Given the description of an element on the screen output the (x, y) to click on. 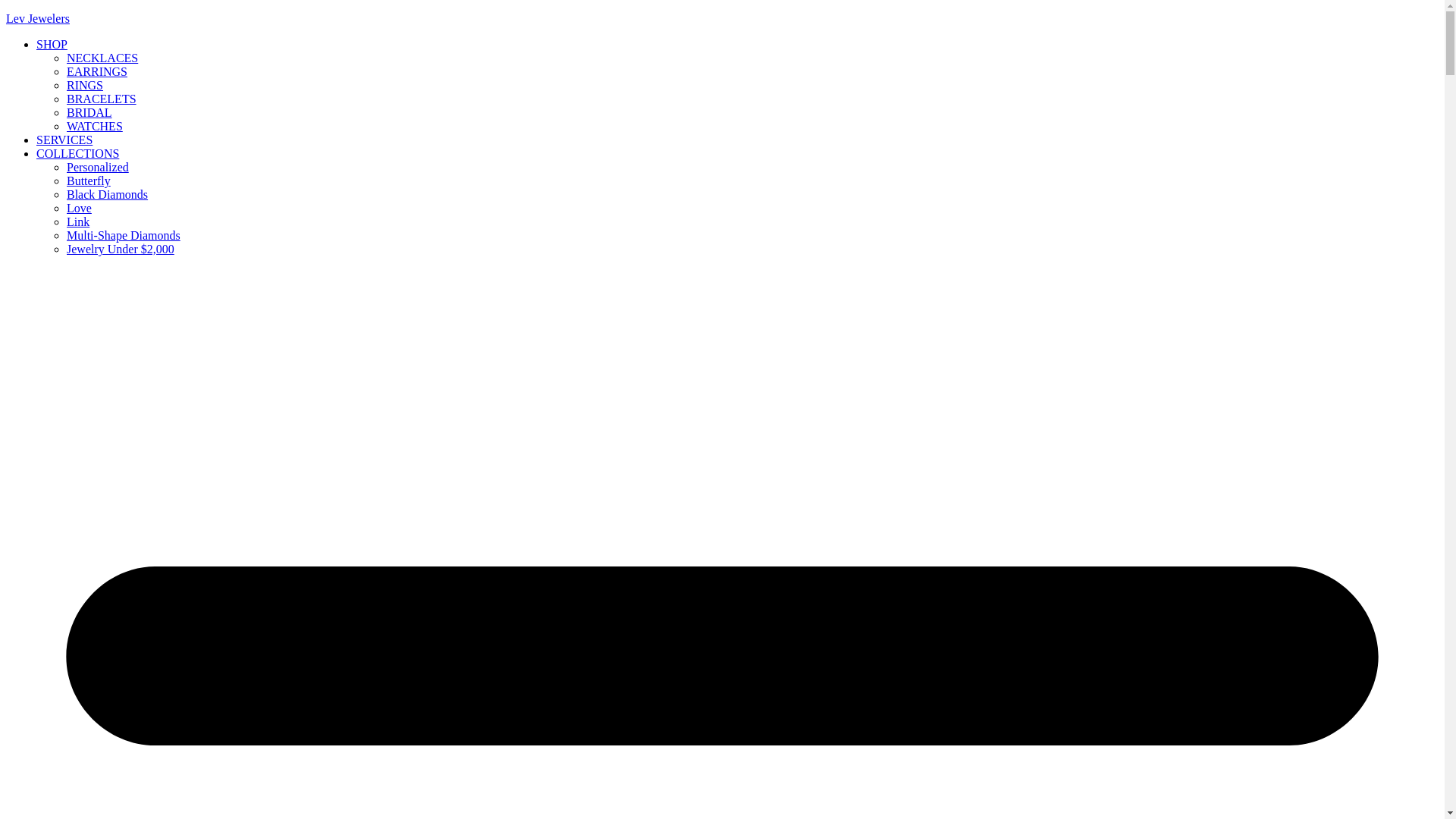
SHOP (51, 43)
Lev Jewelers (37, 18)
Butterfly (88, 180)
BRIDAL (89, 112)
WATCHES (94, 125)
Link (77, 221)
NECKLACES (102, 57)
Black Diamonds (107, 194)
COLLECTIONS (77, 153)
EARRINGS (97, 71)
Personalized (97, 166)
Multi-Shape Diamonds (123, 235)
Love (78, 207)
RINGS (84, 84)
Lev Jewelers (37, 18)
